Given the description of an element on the screen output the (x, y) to click on. 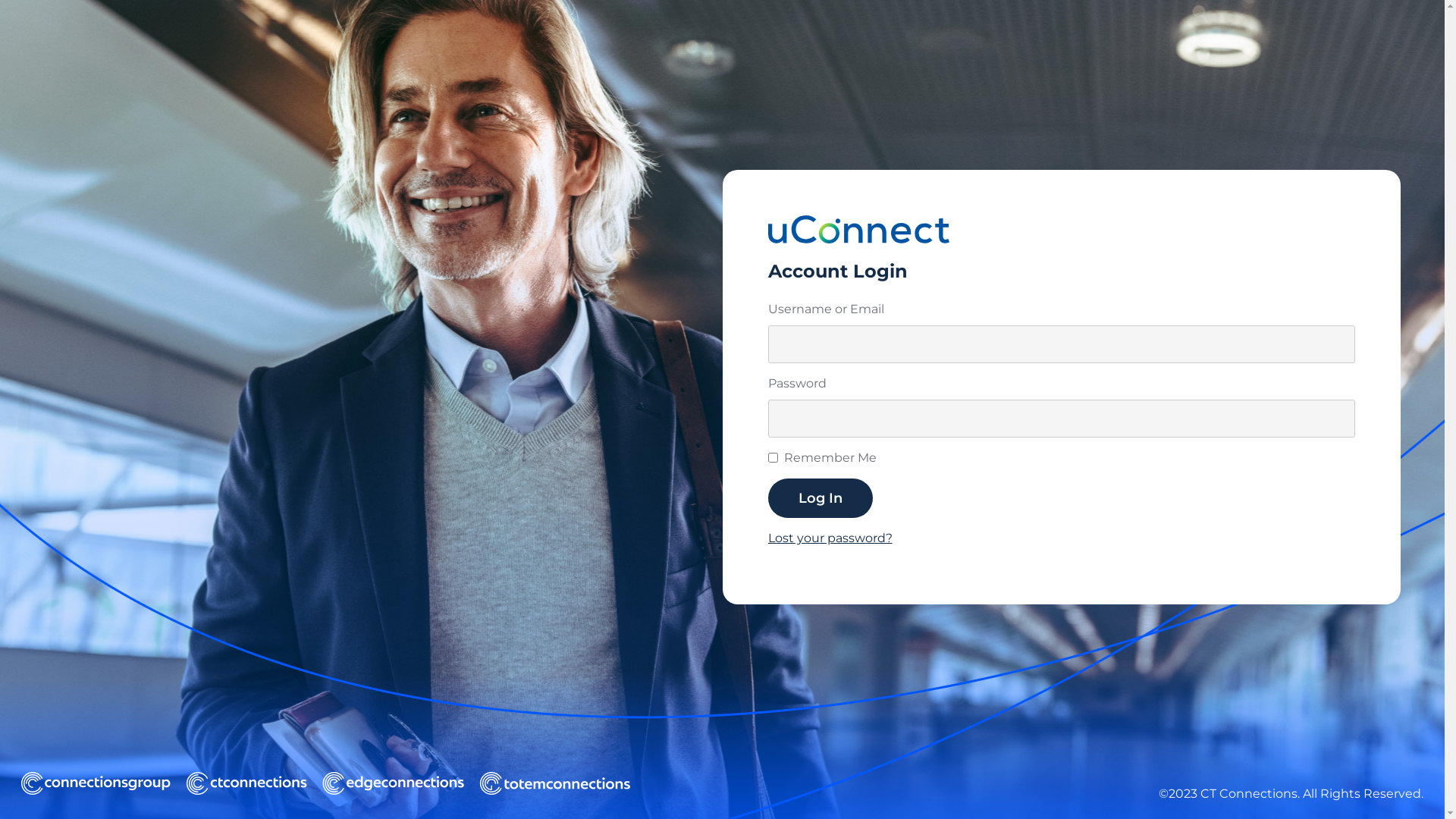
Lost your password? Element type: text (829, 537)
Log In Element type: text (819, 497)
